Given the description of an element on the screen output the (x, y) to click on. 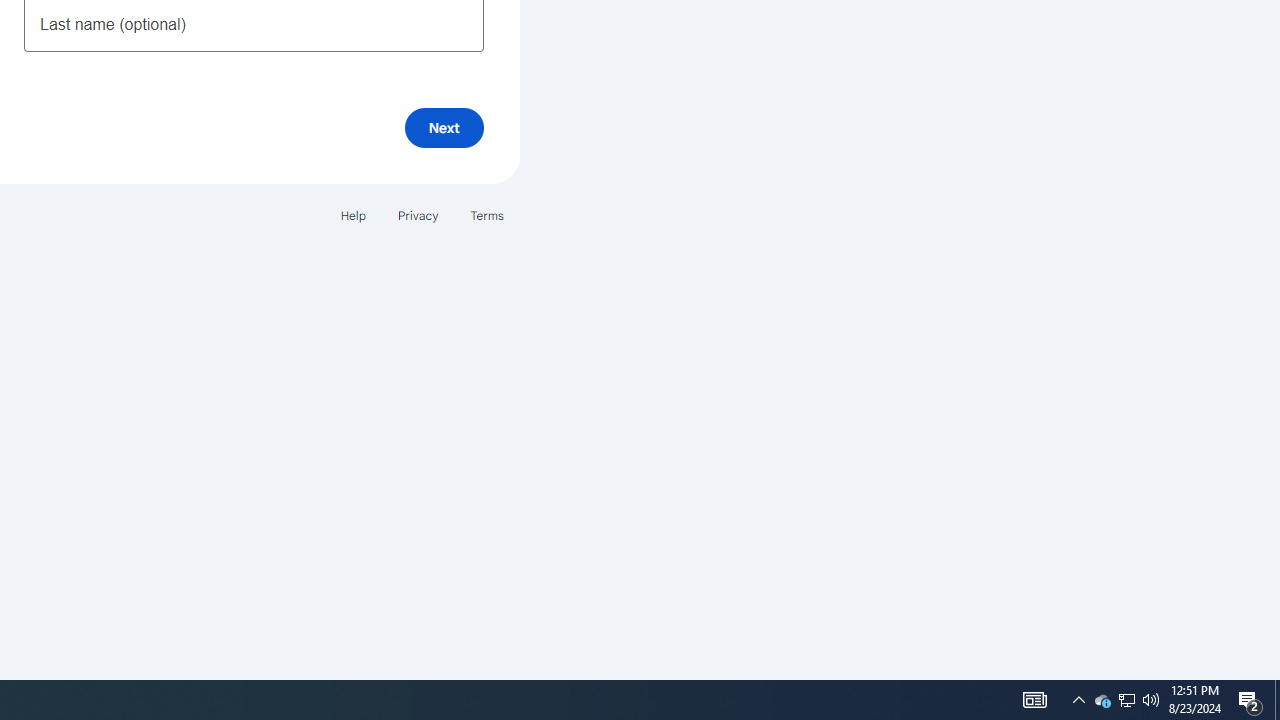
Help (352, 214)
Privacy (417, 214)
Next (443, 127)
Terms (486, 214)
